Given the description of an element on the screen output the (x, y) to click on. 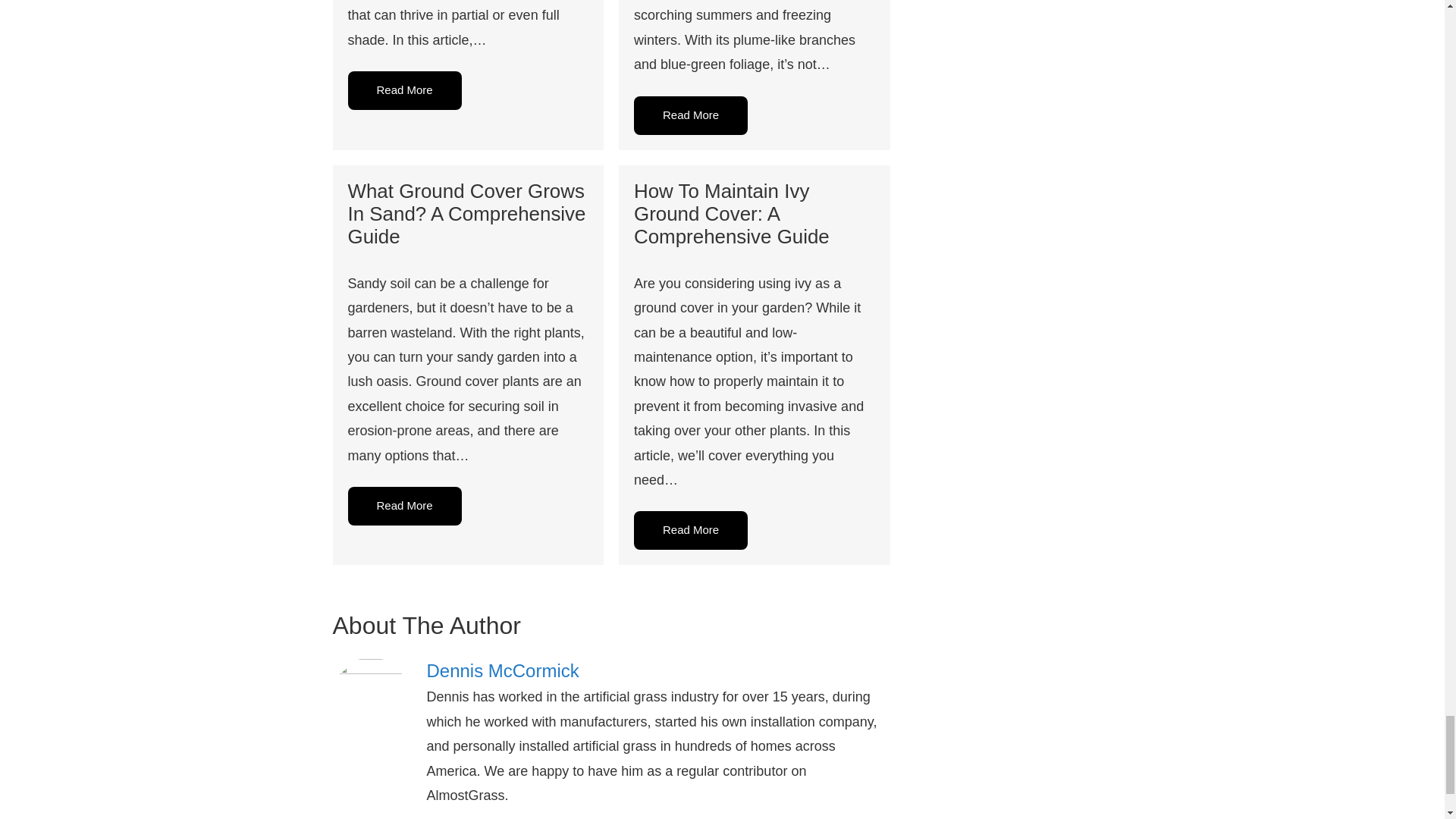
Read More (690, 115)
Read More (404, 90)
Read More (690, 530)
What Ground Cover Grows In Sand? A Comprehensive Guide (466, 213)
Read More (404, 505)
Dennis McCormick (657, 670)
How To Maintain Ivy Ground Cover: A Comprehensive Guide (731, 213)
